Given the description of an element on the screen output the (x, y) to click on. 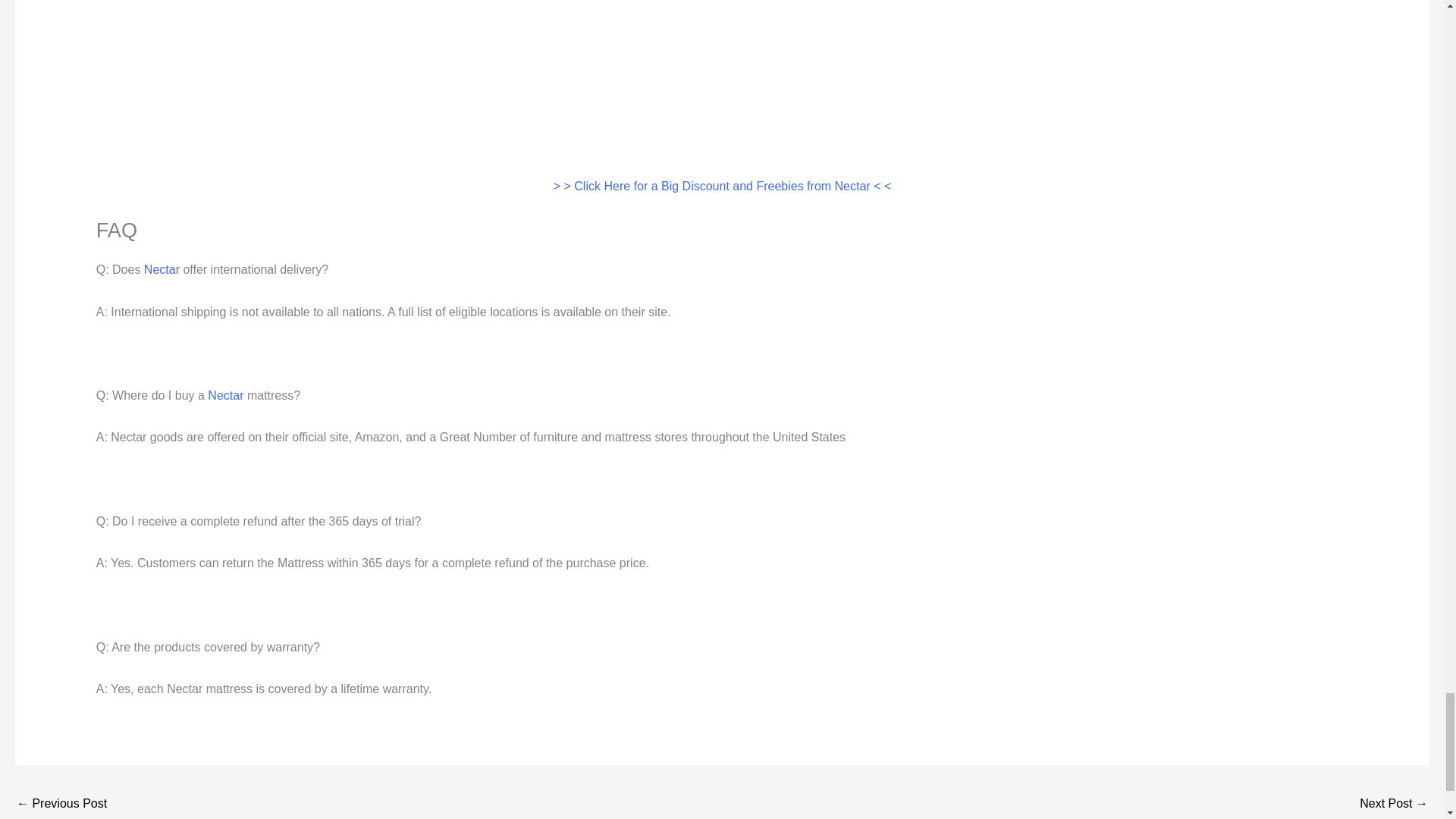
Black Friday Nectar Mattress Sale 2023 (61, 805)
Nectar (225, 395)
Nectar Bed Sheet Reviews (1393, 805)
Nectar (161, 269)
